Given the description of an element on the screen output the (x, y) to click on. 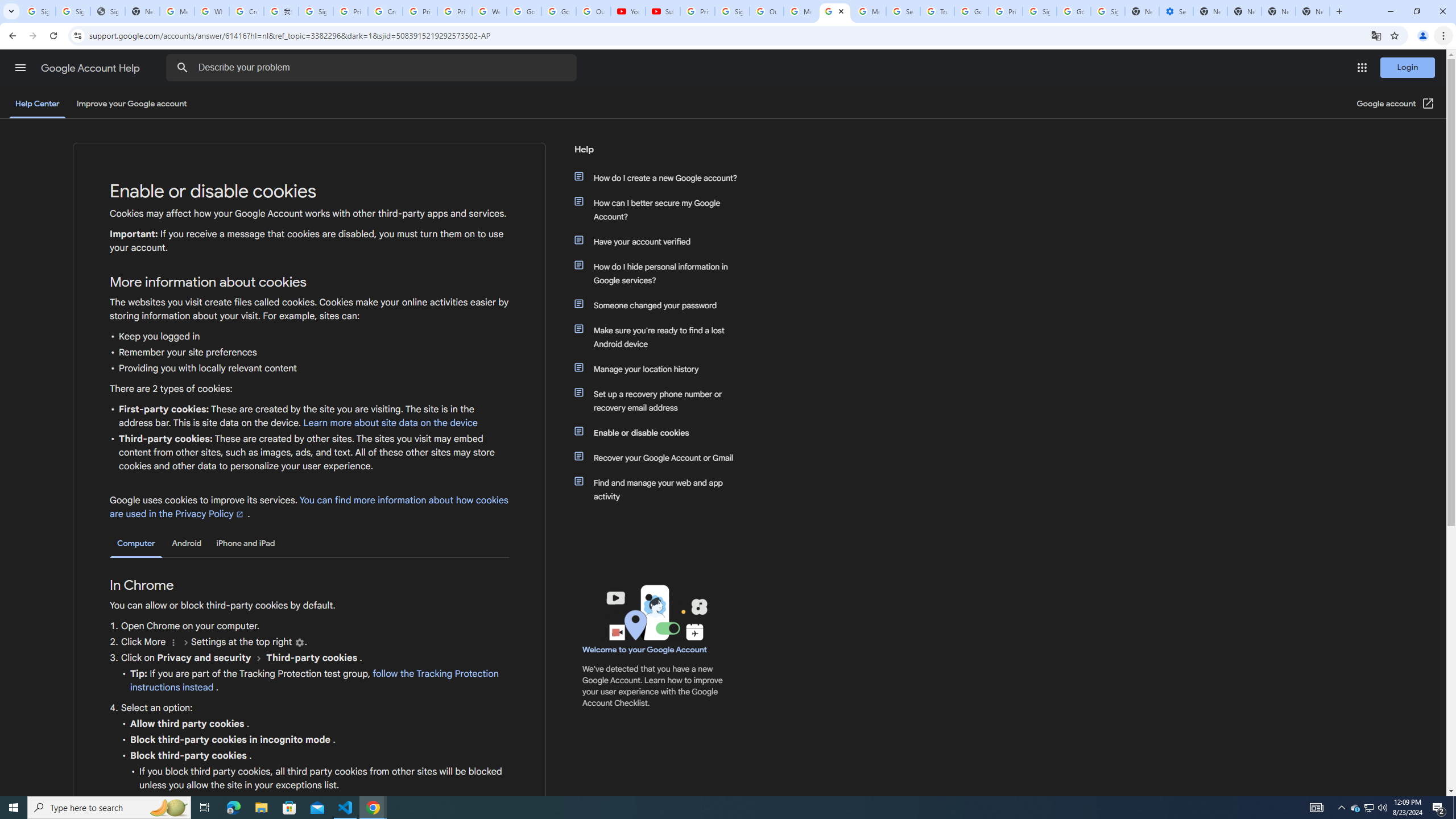
Sign In - USA TODAY (107, 11)
Sign in - Google Accounts (1107, 11)
Search the Help Center (181, 67)
Learning Center home page image (655, 612)
and then (258, 657)
Institutions (299, 642)
Describe your problem (373, 67)
